Given the description of an element on the screen output the (x, y) to click on. 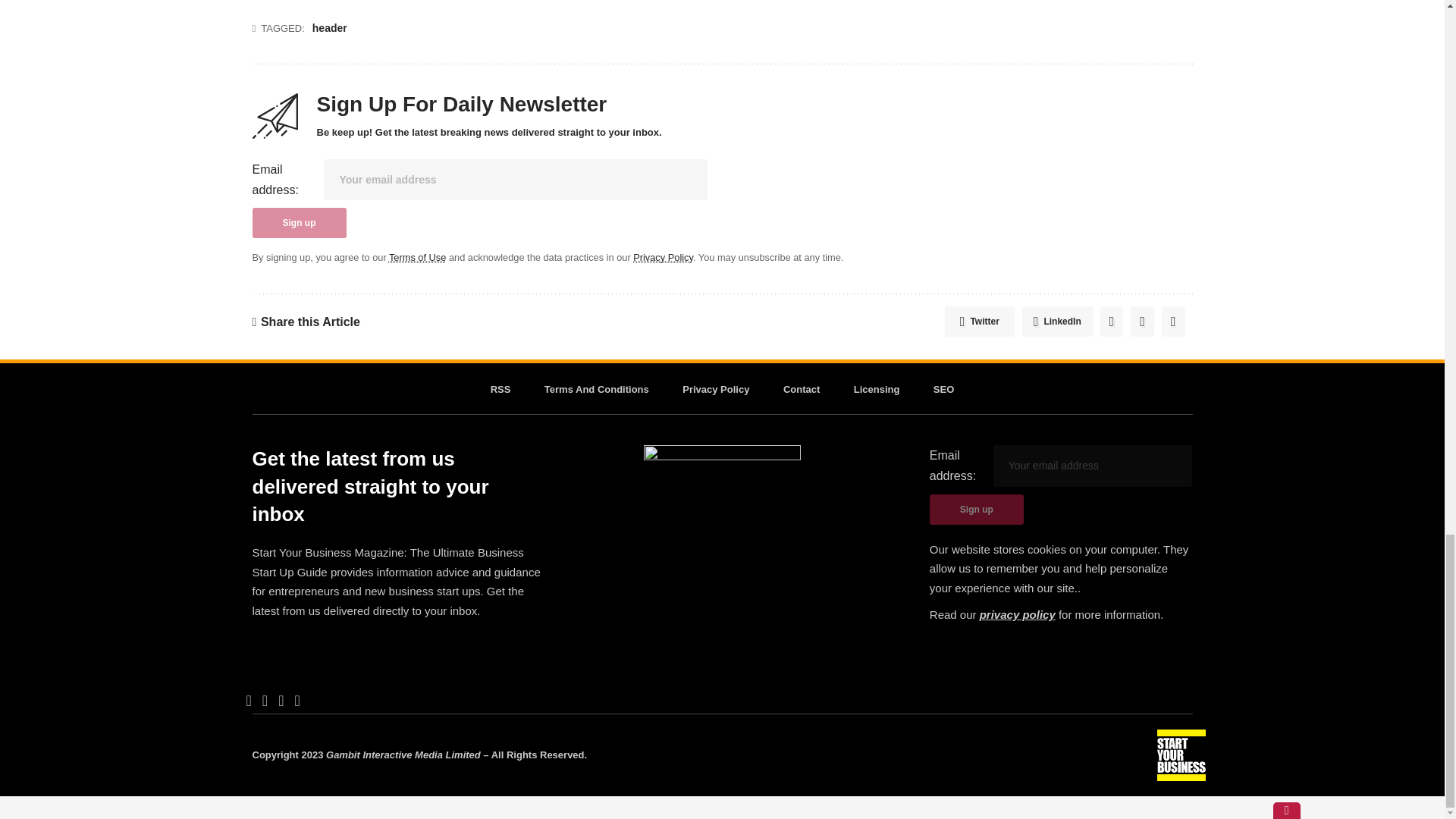
Sign up (298, 223)
Sign up (976, 509)
